Given the description of an element on the screen output the (x, y) to click on. 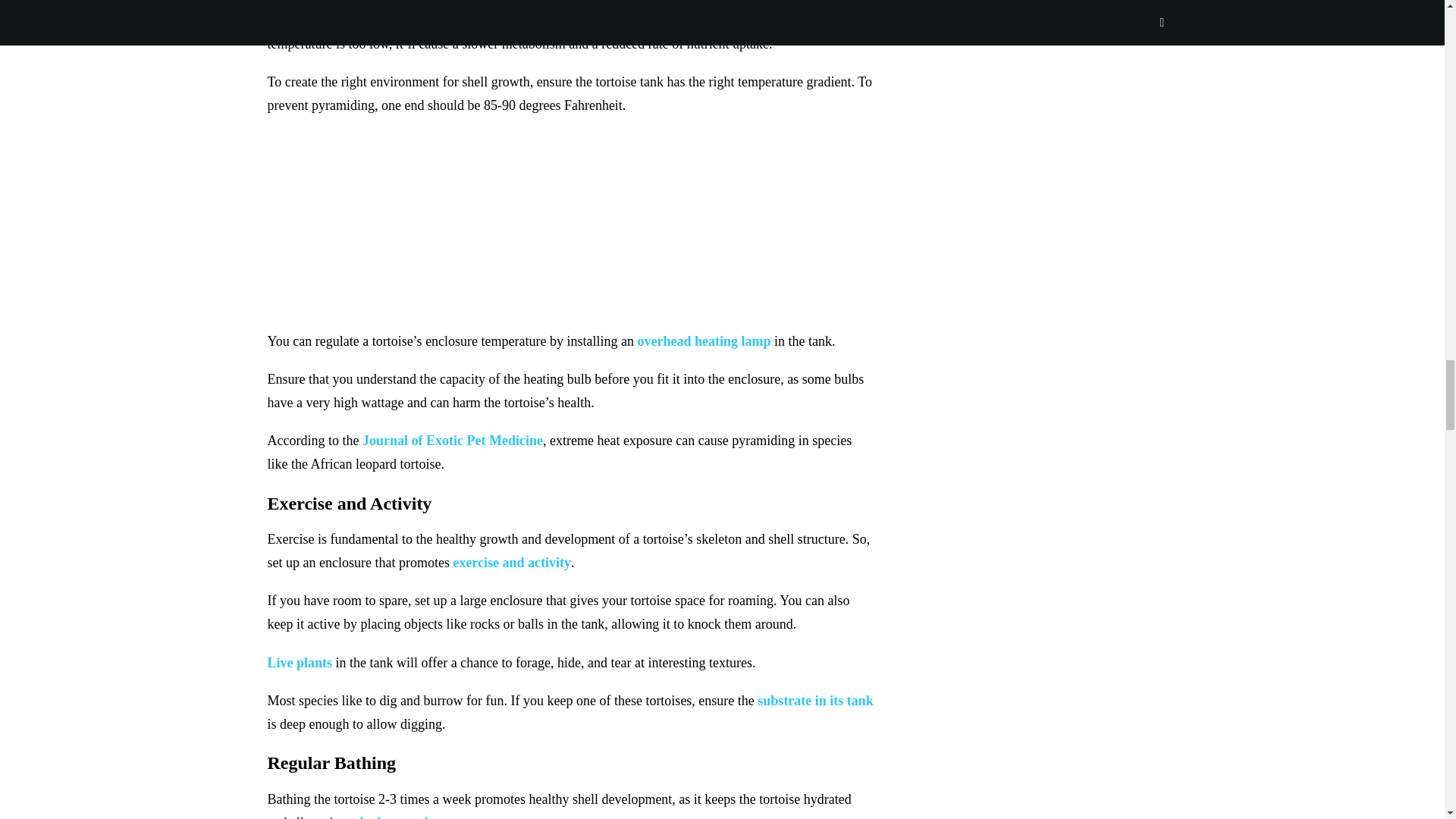
overhead heating lamp (704, 340)
Journal of Exotic Pet Medicine (452, 440)
substrate in its tank (815, 700)
exercise and activity (511, 562)
Live plants (298, 662)
shed properly (395, 816)
